Given the description of an element on the screen output the (x, y) to click on. 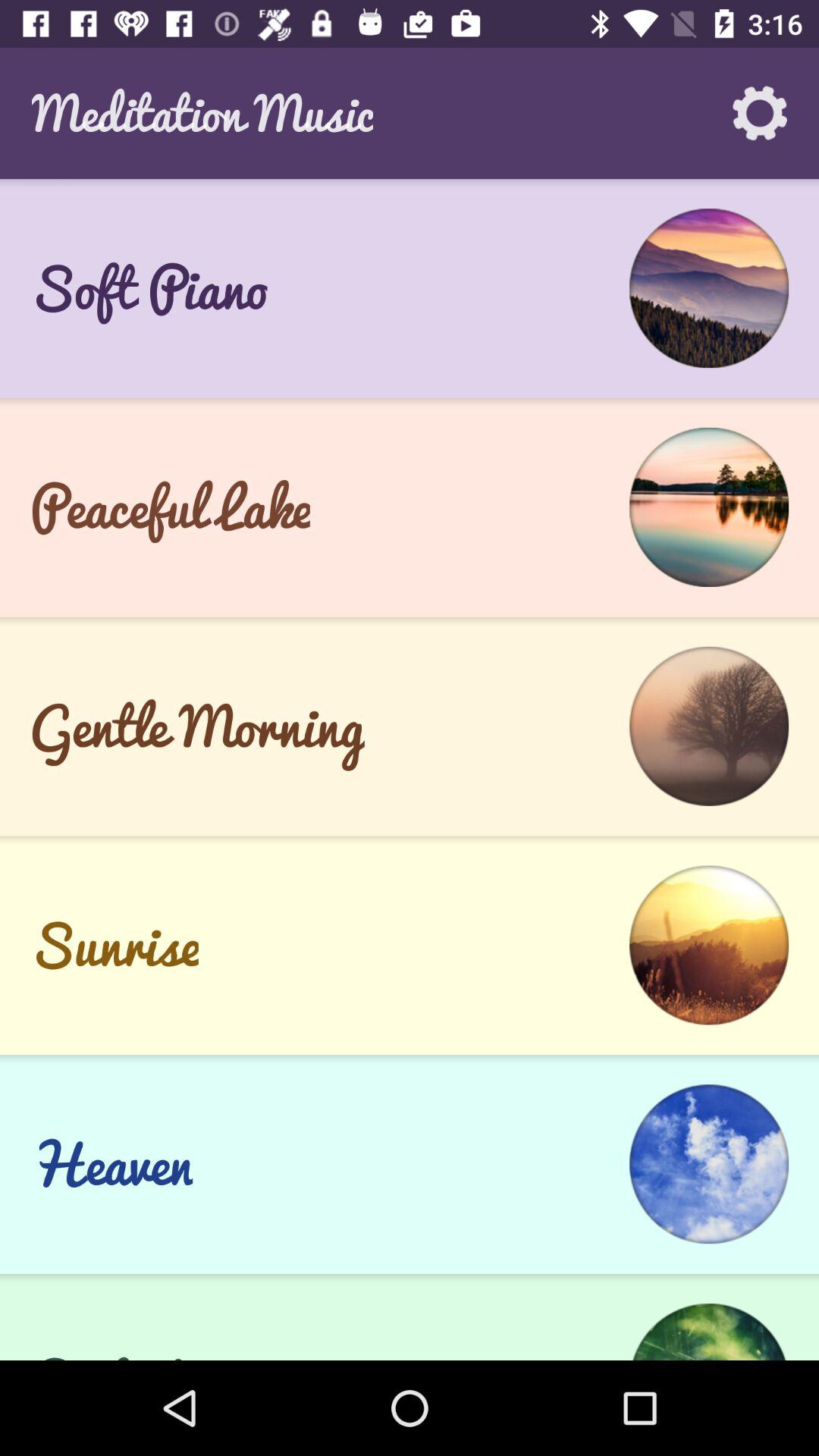
jump to the meditation music (202, 112)
